Given the description of an element on the screen output the (x, y) to click on. 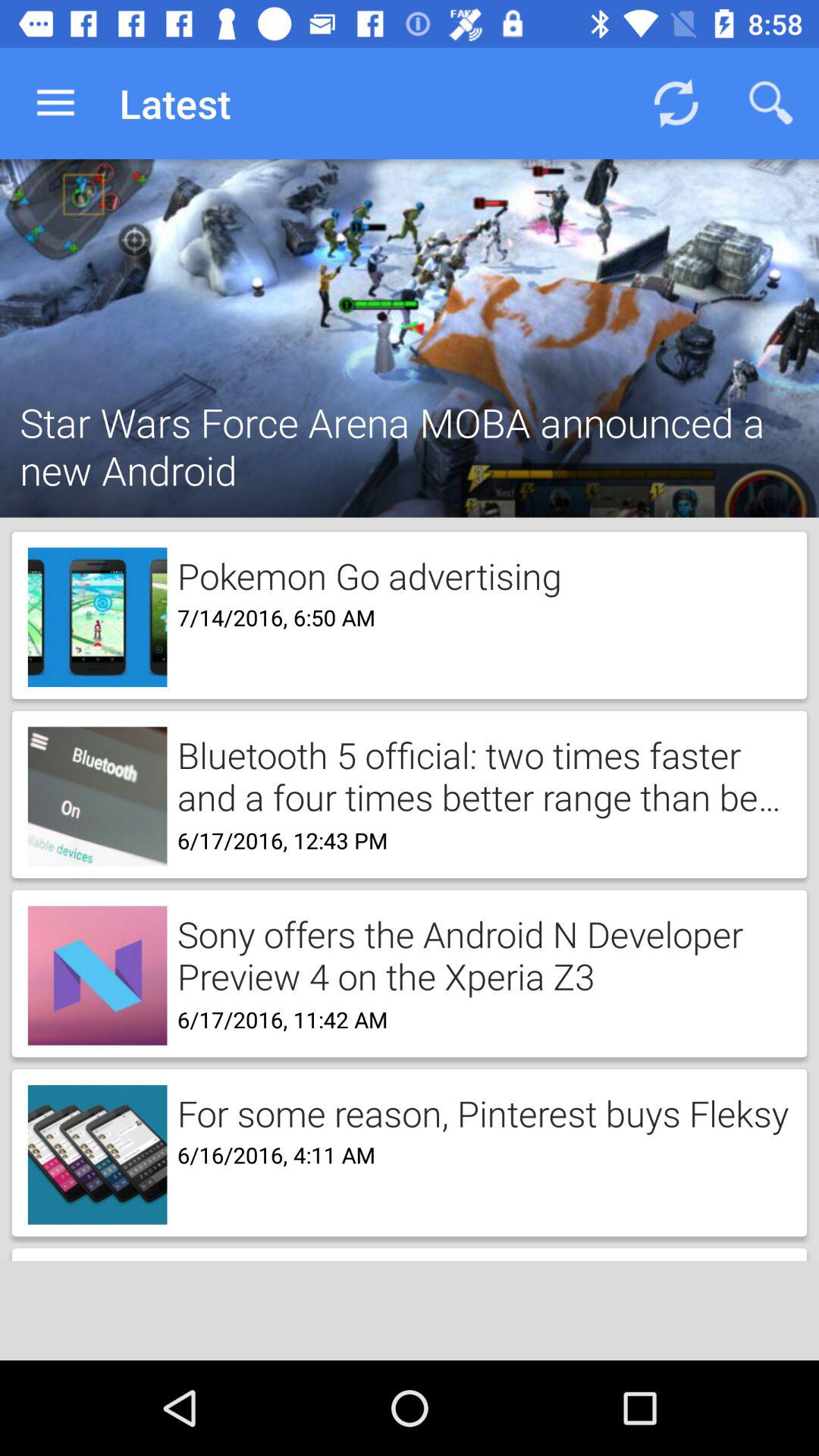
press the item above the 6 16 2016 (477, 1111)
